Given the description of an element on the screen output the (x, y) to click on. 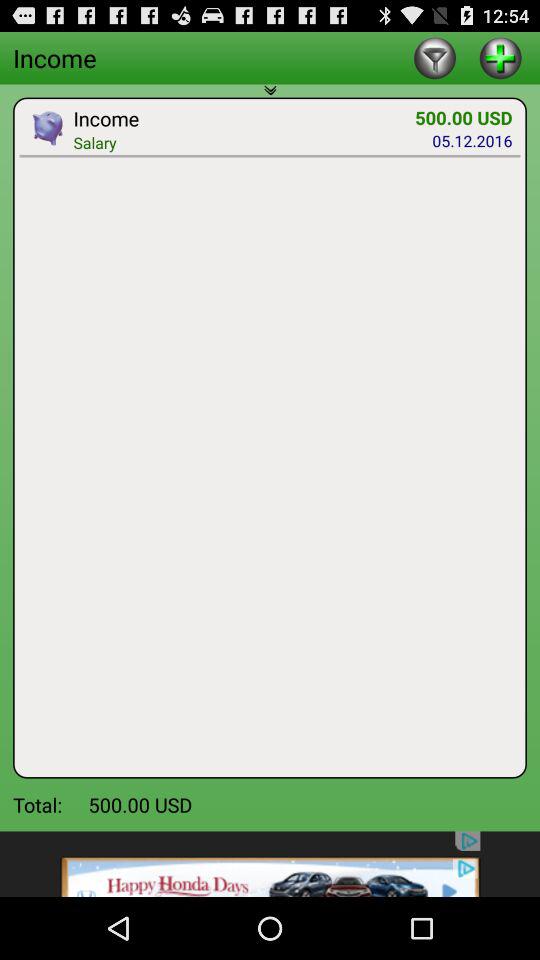
advertisement (270, 864)
